Given the description of an element on the screen output the (x, y) to click on. 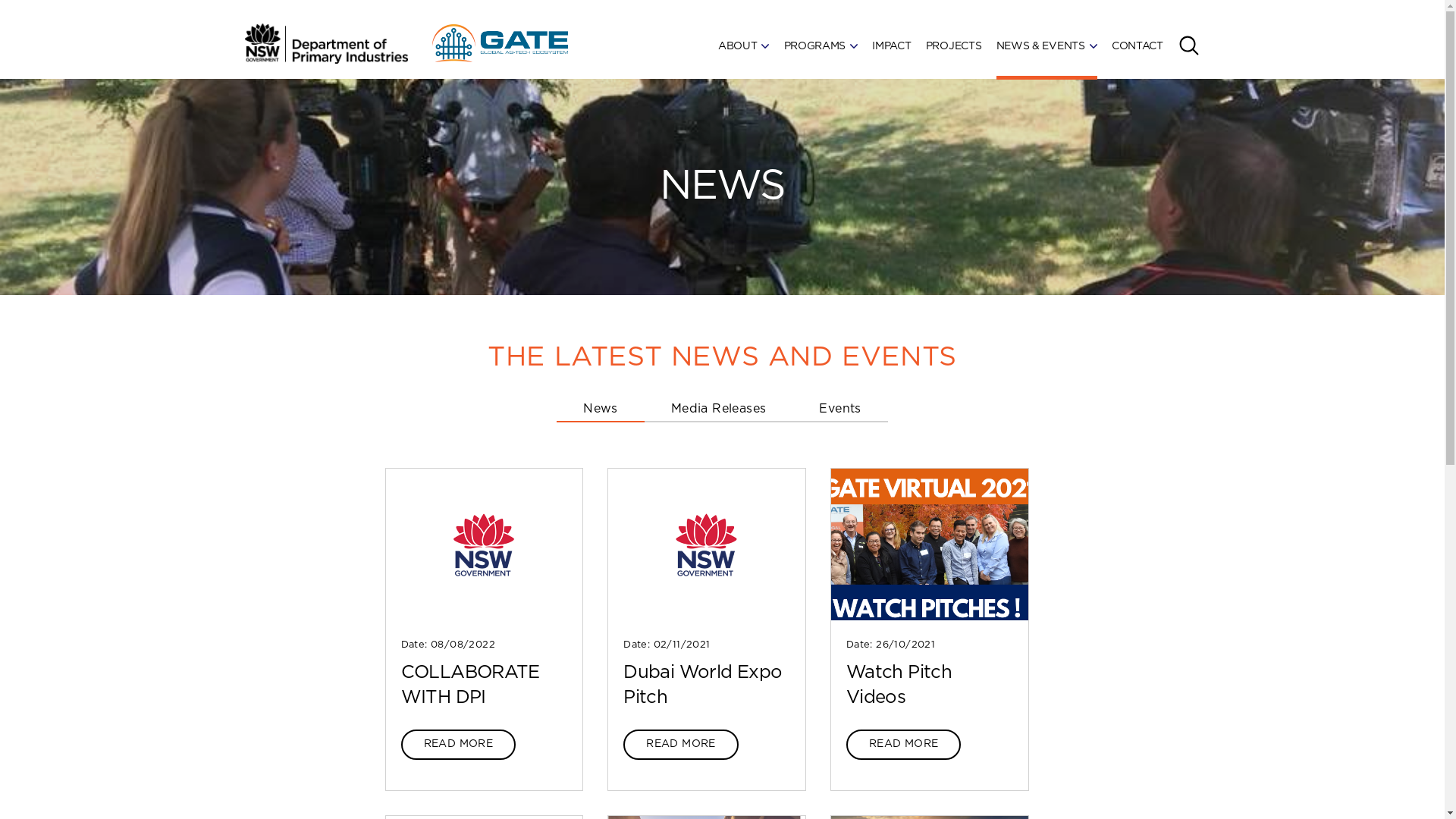
Media Releases Element type: text (718, 410)
PROJECTS Element type: text (953, 42)
COLLABORATE WITH DPI Element type: text (469, 685)
READ MORE Element type: text (680, 744)
READ MORE Element type: text (457, 744)
ABOUT Element type: text (743, 42)
Dubai World Expo Pitch Element type: text (702, 685)
READ MORE Element type: text (903, 744)
News Element type: text (600, 410)
CONTACT Element type: text (1137, 42)
NEWS & EVENTS Element type: text (1046, 42)
IMPACT Element type: text (891, 42)
Watch Pitch Videos Element type: text (898, 685)
Events Element type: text (839, 410)
PROGRAMS Element type: text (821, 42)
